Given the description of an element on the screen output the (x, y) to click on. 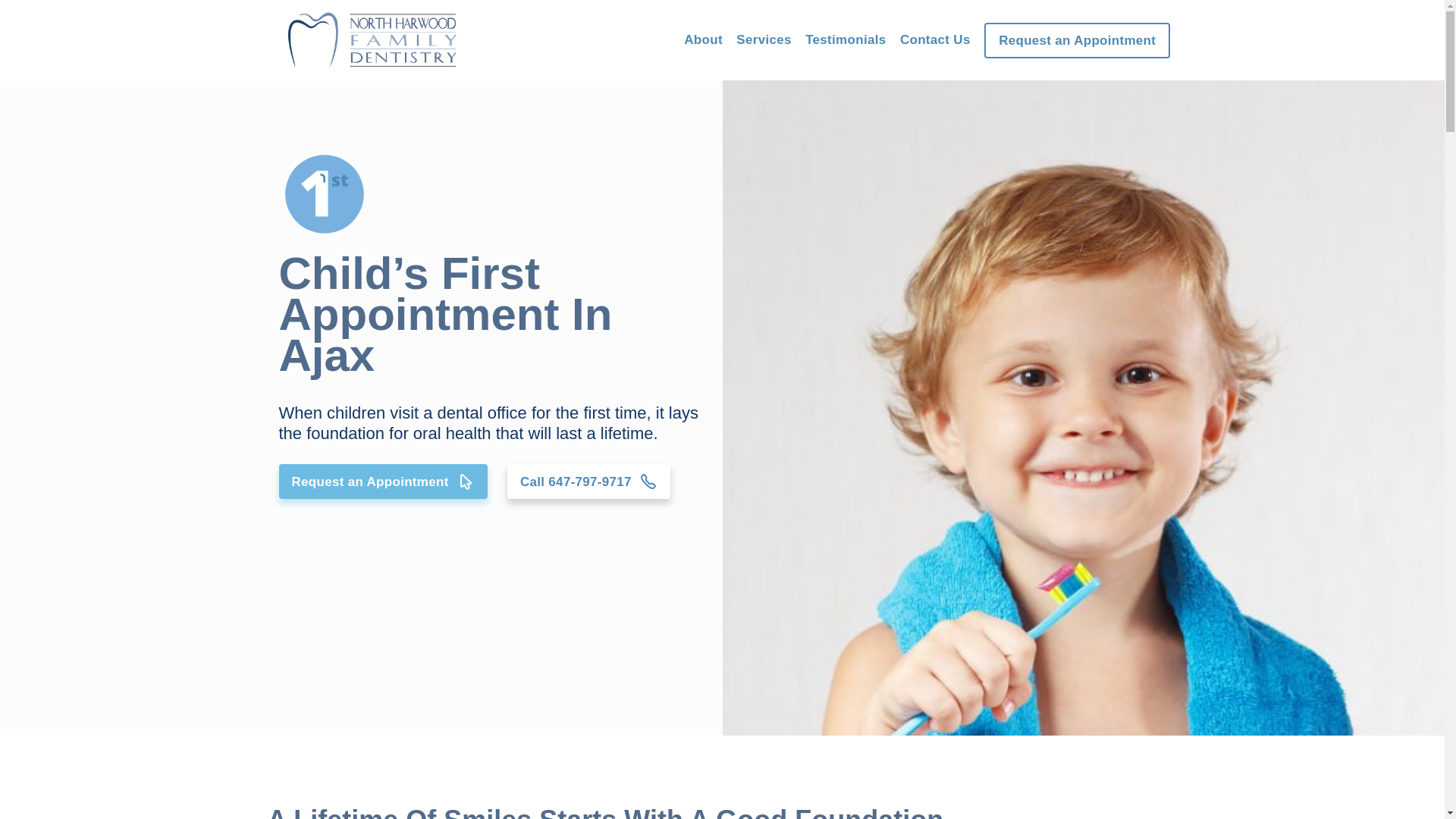
About Element type: text (703, 39)
Request an Appointment Element type: text (1077, 40)
Contact Us Element type: text (935, 39)
Call 647-797-9717 Element type: text (588, 481)
Request an Appointment Element type: text (383, 481)
North Harwood Family Dentistry - Ajax Element type: hover (1082, 407)
Skip to main content Element type: text (0, 0)
Testimonials Element type: text (845, 39)
Services Element type: text (763, 39)
